Given the description of an element on the screen output the (x, y) to click on. 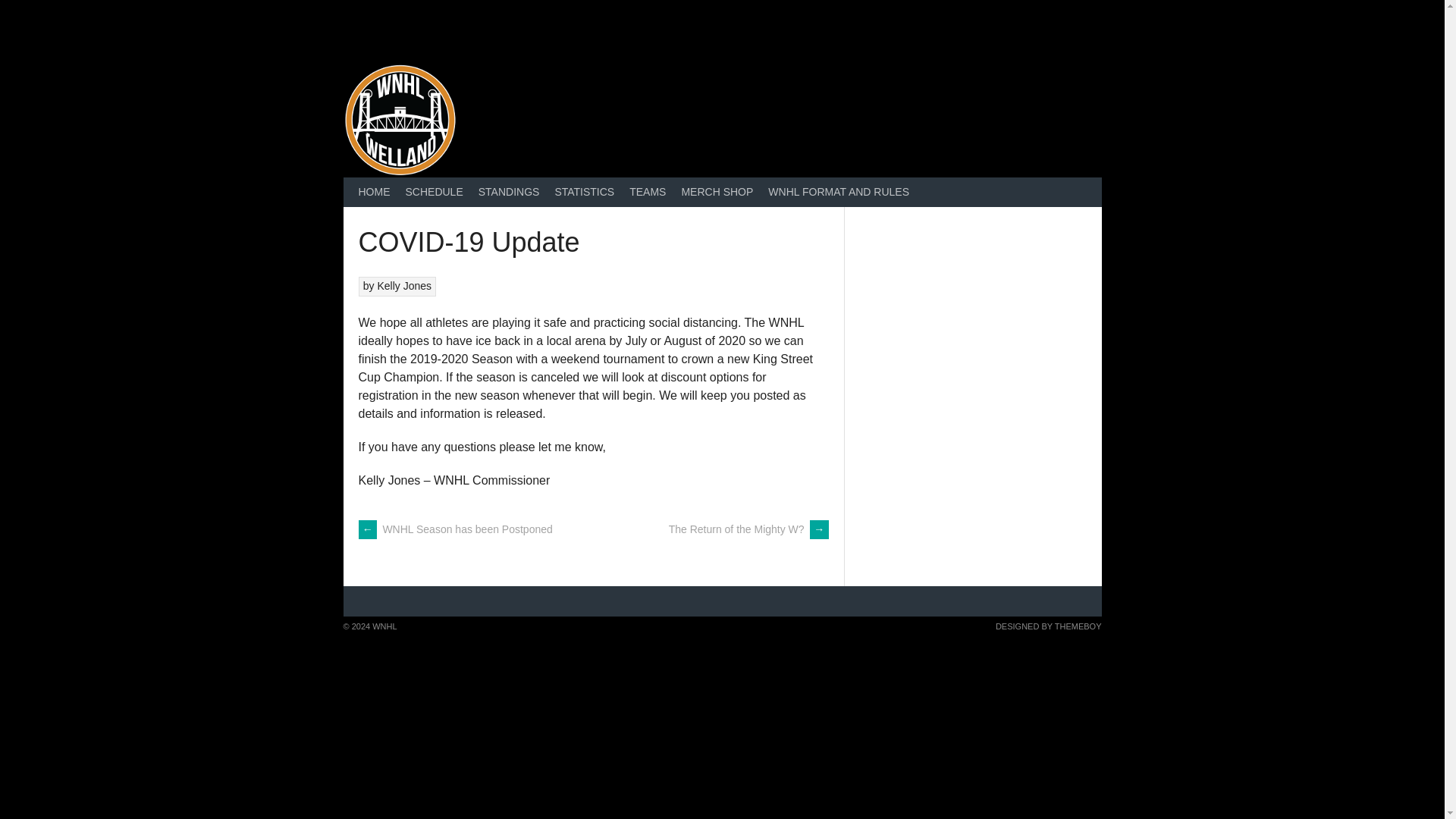
TEAMS (646, 192)
STATISTICS (584, 192)
Kelly Jones (403, 285)
HOME (373, 192)
STANDINGS (508, 192)
DESIGNED BY THEMEBOY (1048, 625)
MERCH SHOP (716, 192)
WNHL FORMAT AND RULES (838, 192)
SCHEDULE (433, 192)
